Given the description of an element on the screen output the (x, y) to click on. 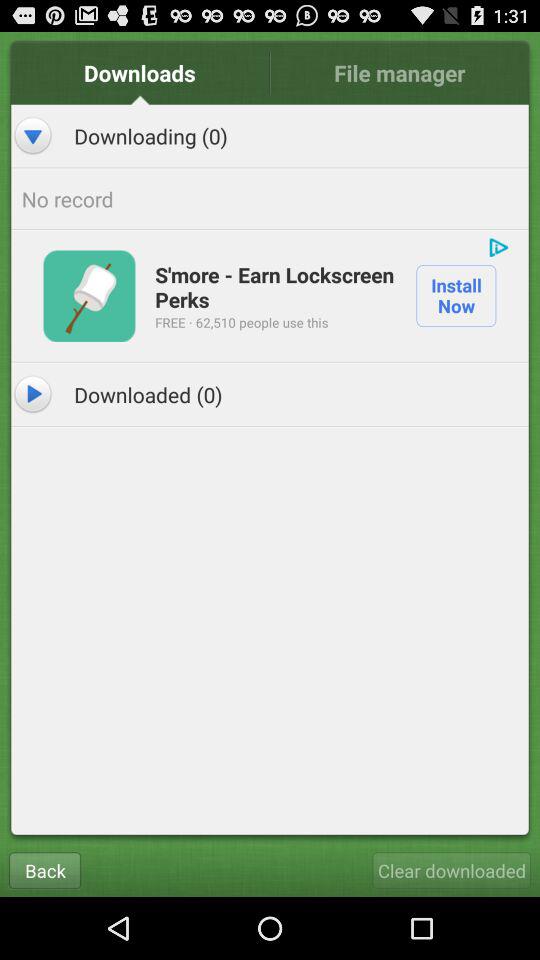
turn on install now (456, 295)
